Given the description of an element on the screen output the (x, y) to click on. 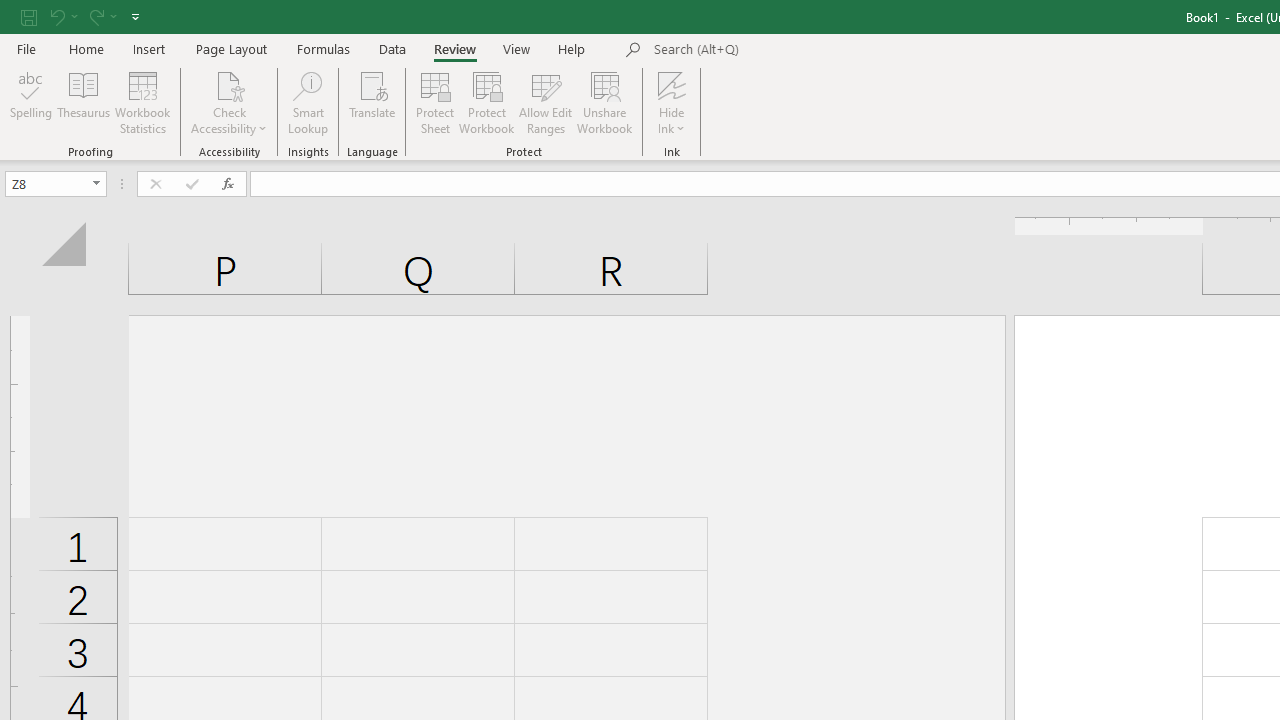
Allow Edit Ranges (545, 102)
Review (454, 48)
Check Accessibility (229, 102)
Spelling... (31, 102)
Check Accessibility (229, 84)
Smart Lookup (308, 102)
File Tab (26, 48)
Help (572, 48)
View (517, 48)
Translate (372, 102)
Protect Sheet... (434, 102)
Workbook Statistics (142, 102)
